Given the description of an element on the screen output the (x, y) to click on. 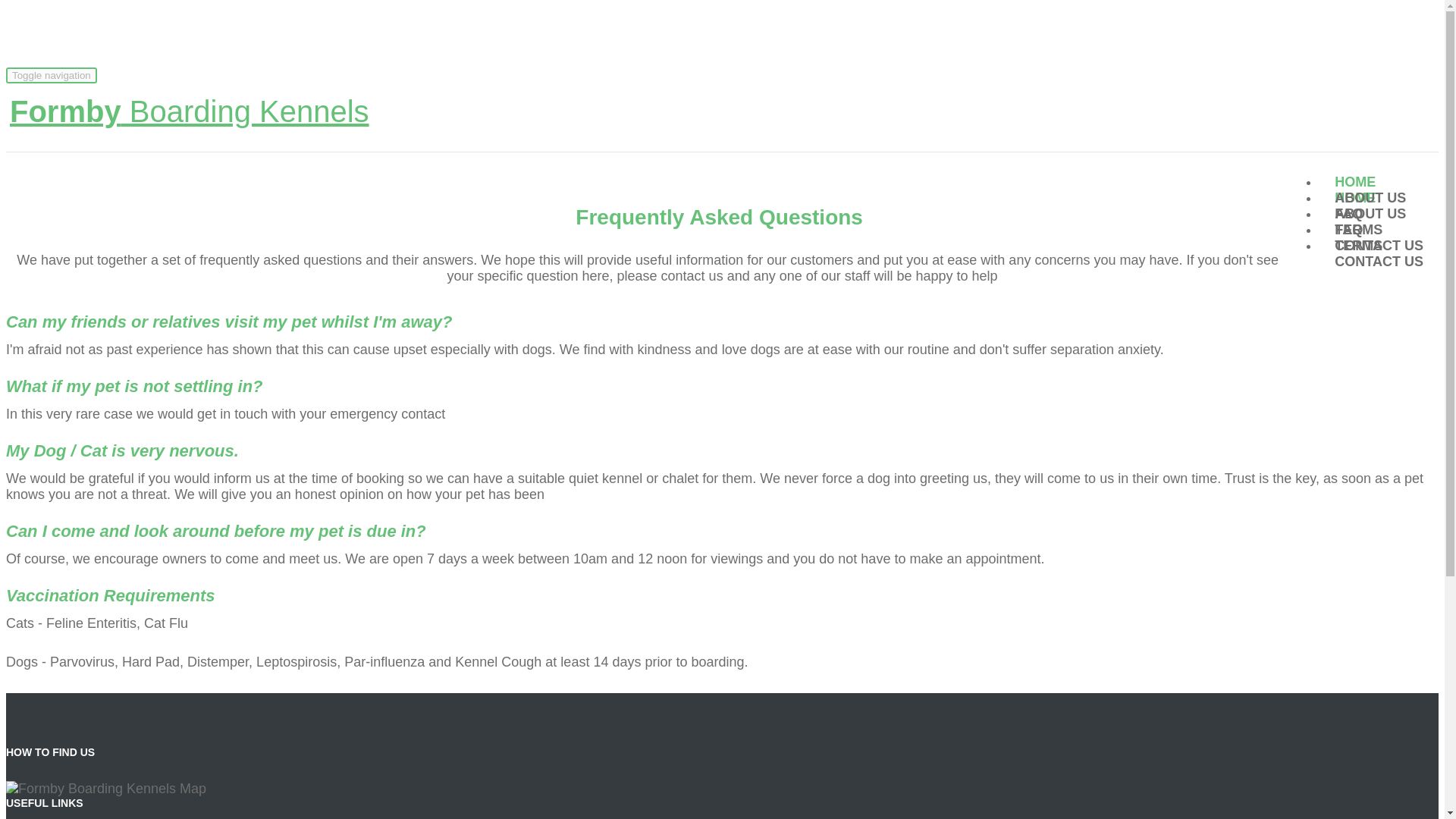
Home (1354, 181)
FAQ (1348, 213)
Toggle navigation (51, 75)
Formby Boarding Kennels (188, 110)
TERMS (1358, 222)
FAQ (1348, 203)
HOME (1354, 168)
ABOUT US (1370, 186)
About (1370, 197)
Terms (1358, 229)
